Given the description of an element on the screen output the (x, y) to click on. 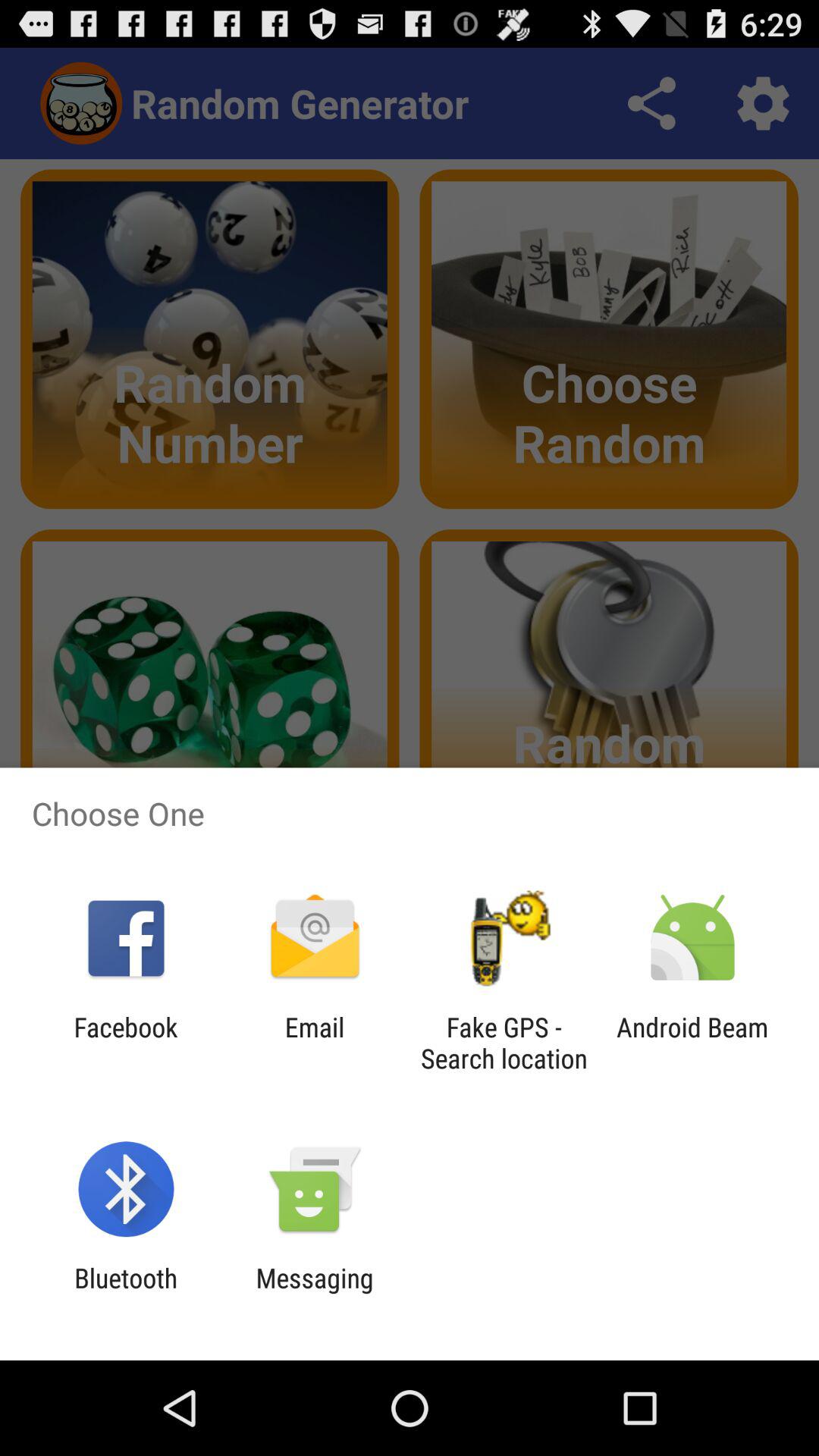
scroll to the android beam item (692, 1042)
